Given the description of an element on the screen output the (x, y) to click on. 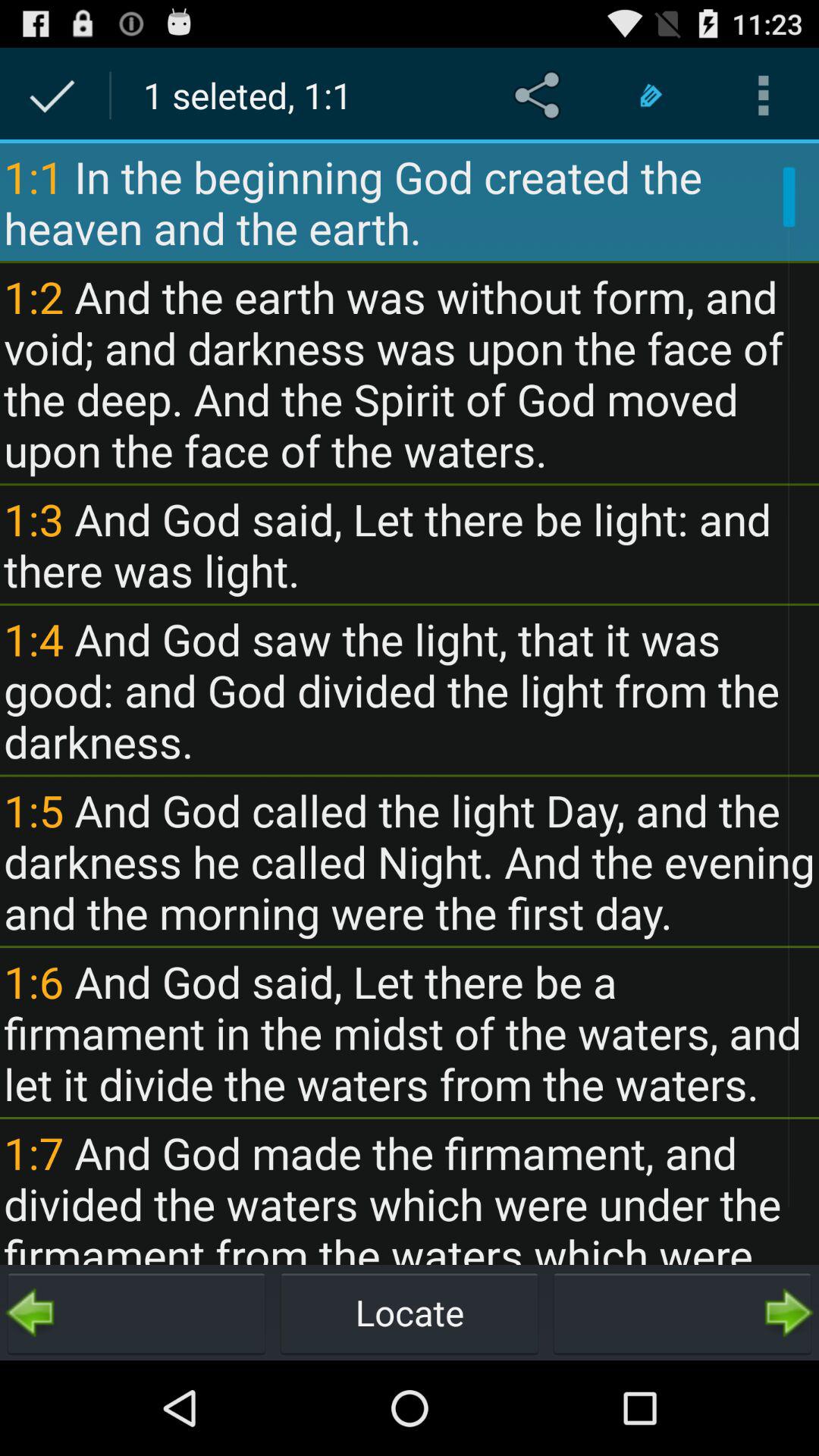
press icon above the 1 1 in (763, 95)
